Given the description of an element on the screen output the (x, y) to click on. 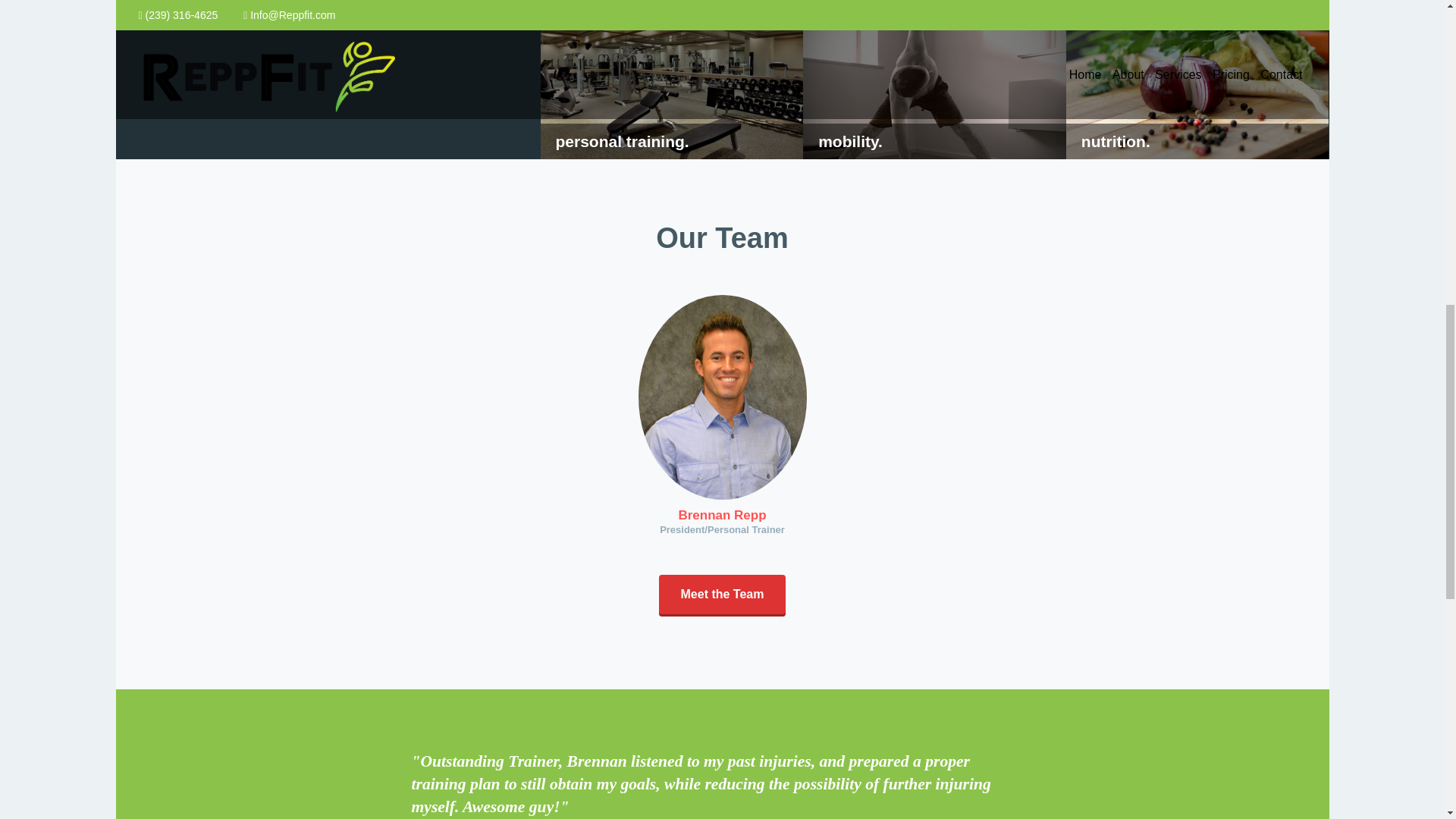
Get in Contact (184, 9)
Get in Contact (184, 9)
Meet the Team (722, 595)
